Given the description of an element on the screen output the (x, y) to click on. 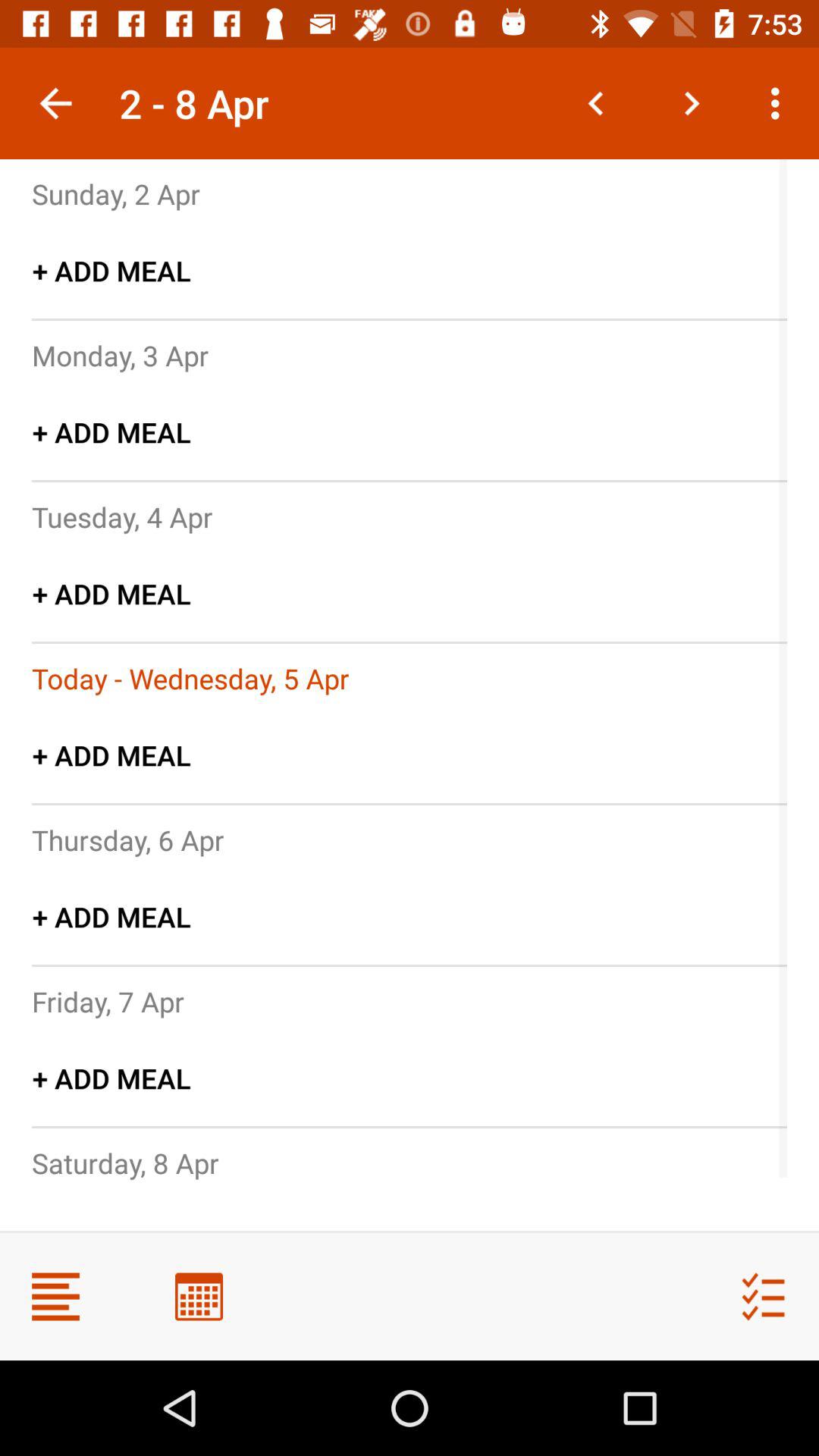
switch to calendar (198, 1296)
